Given the description of an element on the screen output the (x, y) to click on. 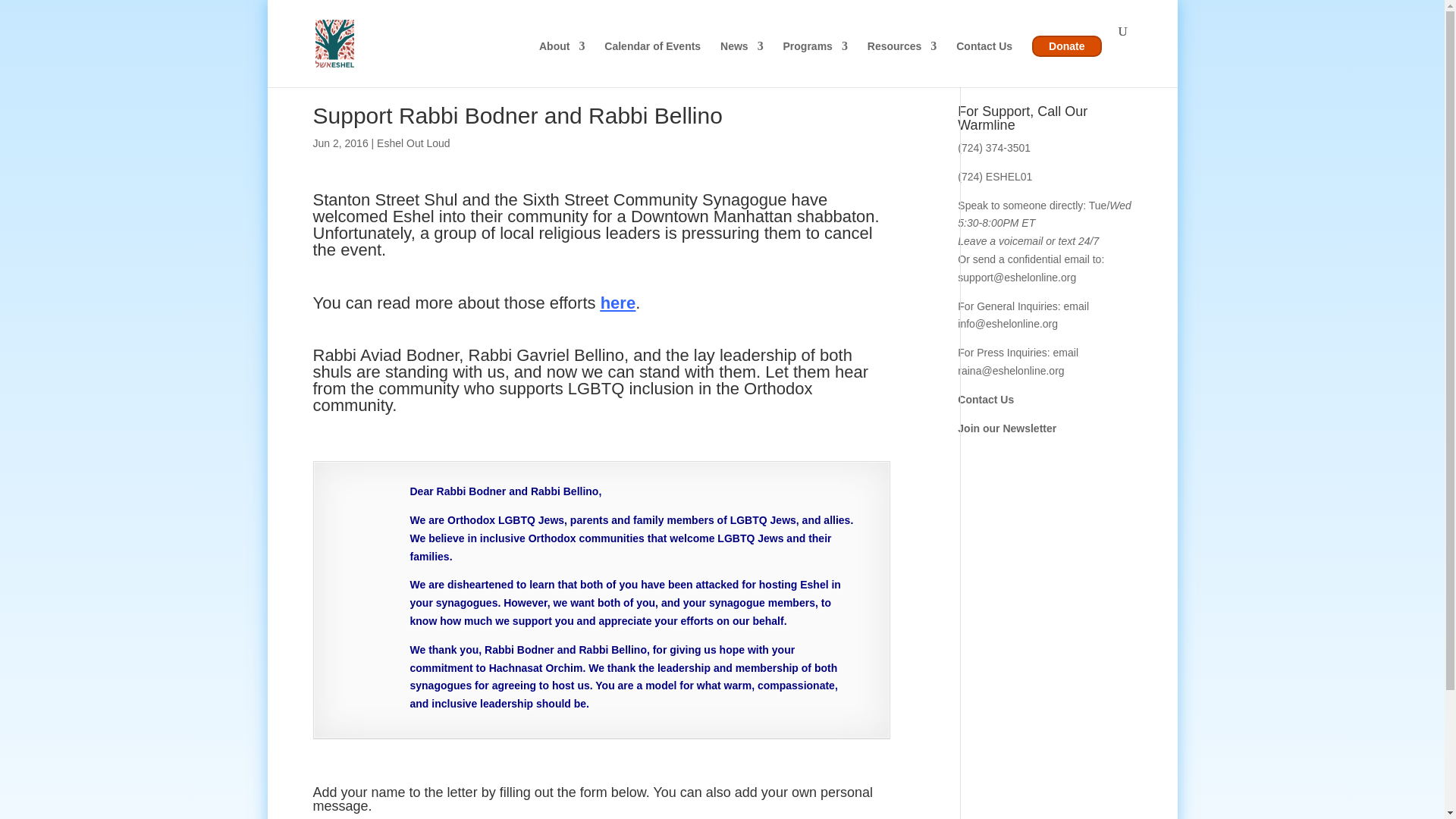
About (561, 58)
Contact Us (983, 58)
Resources (902, 58)
News (741, 58)
donate (1066, 46)
Programs (815, 58)
Calendar of Events (652, 58)
Donate (1066, 46)
